Given the description of an element on the screen output the (x, y) to click on. 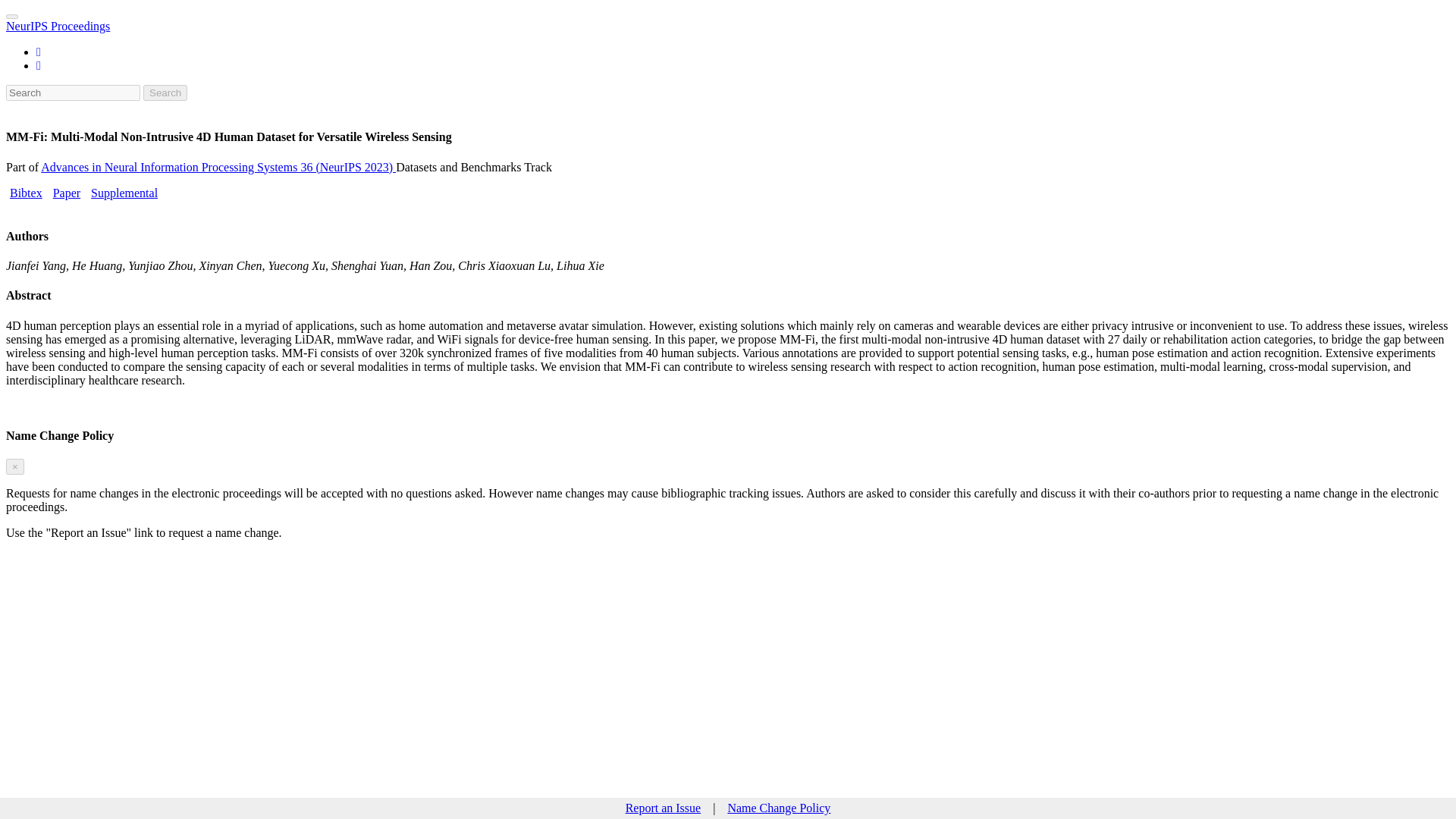
Paper (66, 192)
Supplemental (123, 192)
Search (164, 92)
NeurIPS Proceedings (57, 25)
Bibtex (26, 192)
